Given the description of an element on the screen output the (x, y) to click on. 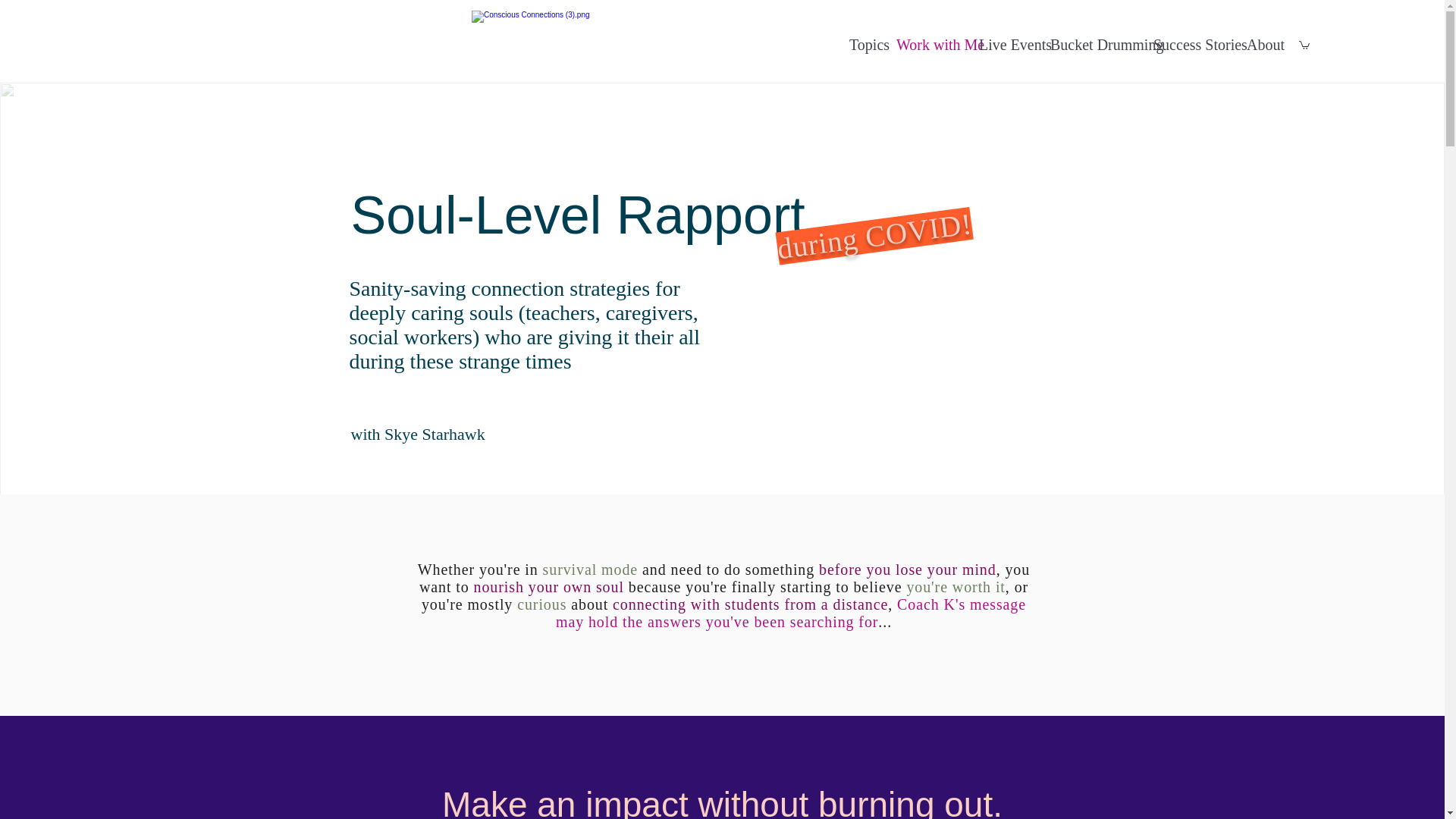
Success Stories (1192, 44)
Topics (864, 44)
Live Events (1006, 44)
Work with Me (929, 44)
Bucket Drumming (1093, 44)
About (1261, 44)
